Given the description of an element on the screen output the (x, y) to click on. 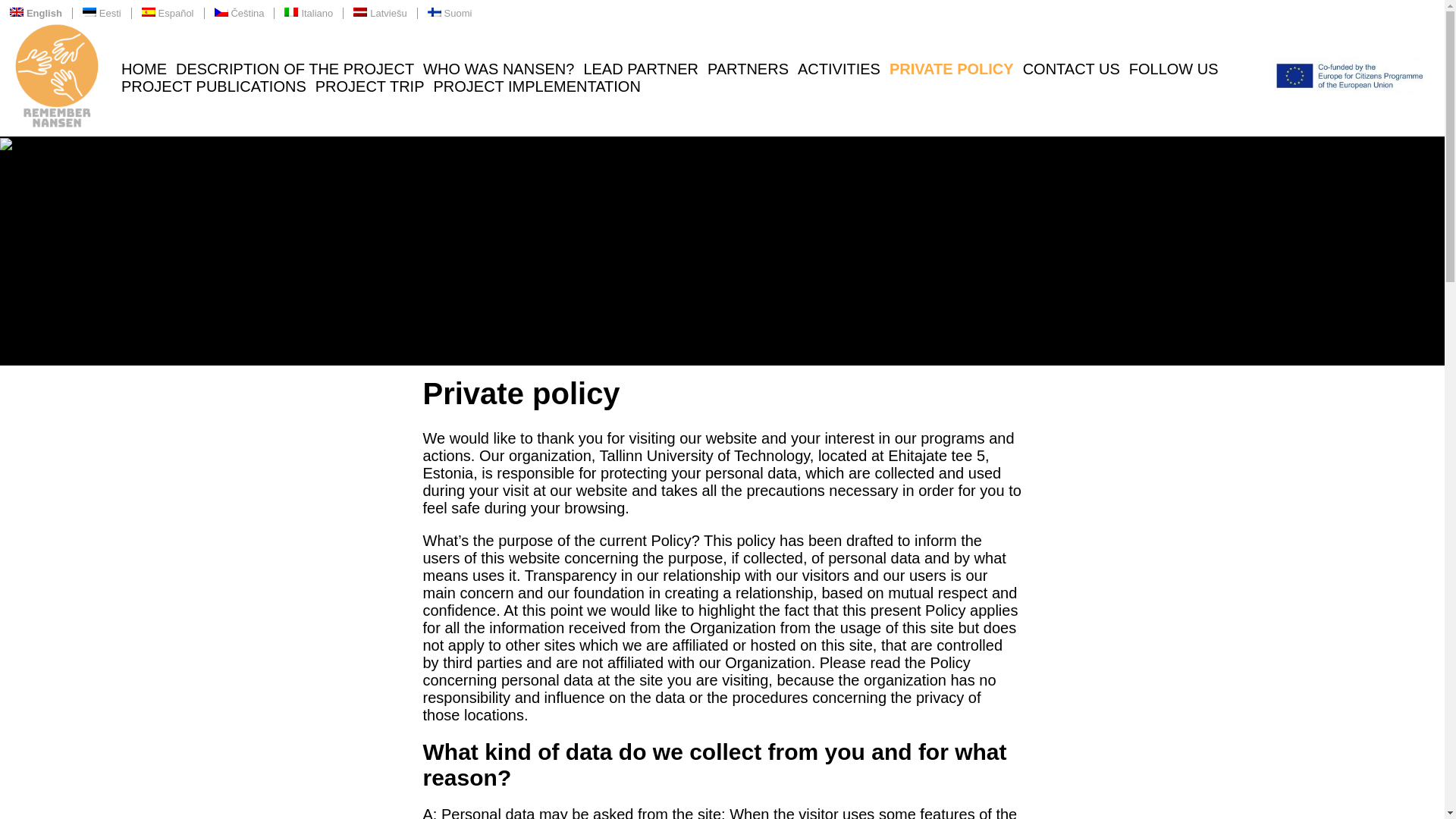
PARTNERS (748, 68)
Suomi (449, 12)
HOME (143, 68)
English (36, 12)
PROJECT IMPLEMENTATION (536, 85)
PROJECT TRIP (370, 85)
English (36, 12)
Eesti (101, 12)
Suomi (449, 12)
CONTACT US (1071, 68)
